Given the description of an element on the screen output the (x, y) to click on. 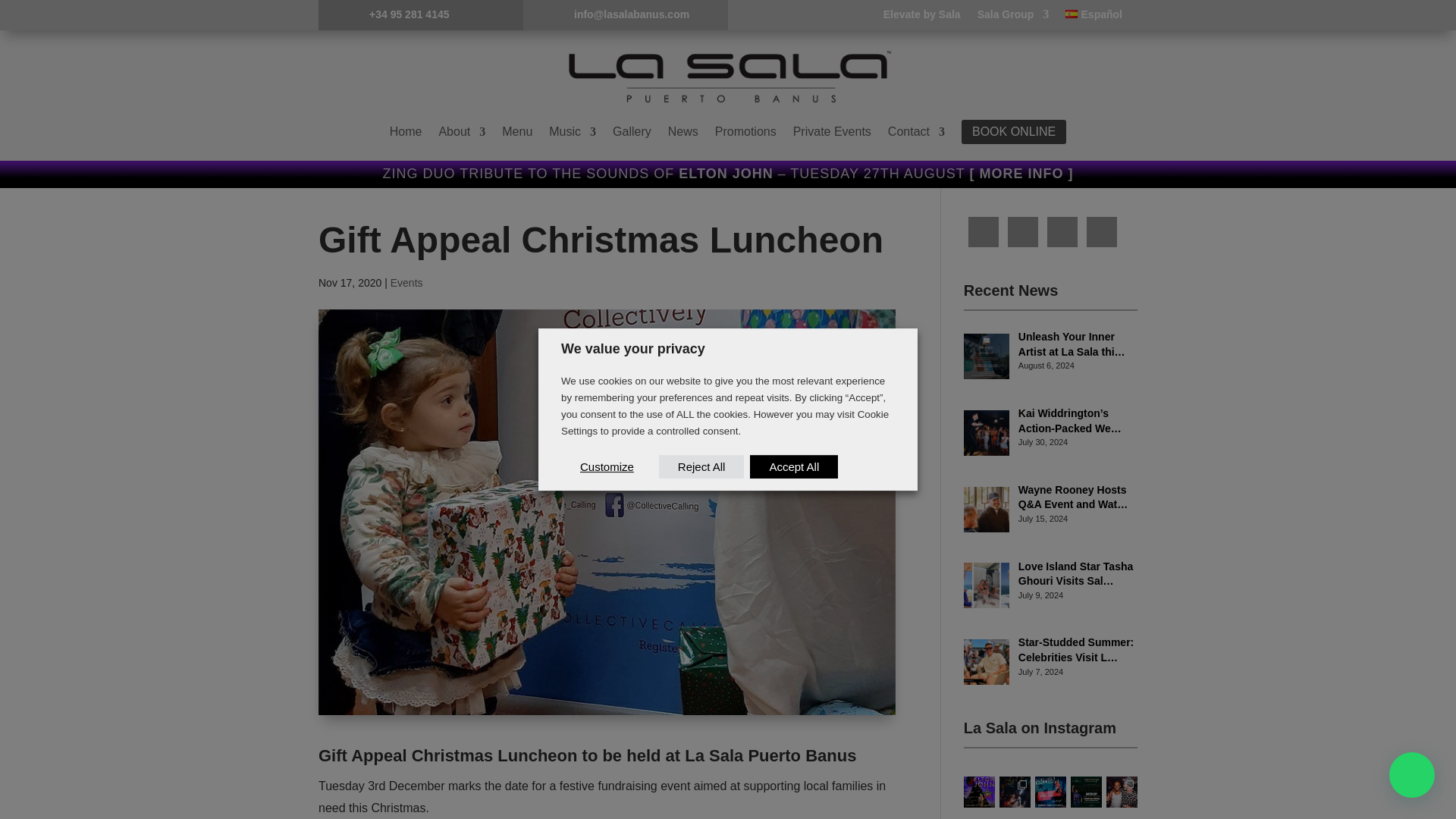
Promotions (745, 131)
Get in touch with La Sala Puerto Banus (916, 131)
BOOK ONLINE (1012, 131)
Contact (916, 131)
Private Events (831, 131)
Marbella restaurant promotions and offers (745, 131)
Elevate by Sala (921, 17)
Sala Group (1012, 17)
